Given the description of an element on the screen output the (x, y) to click on. 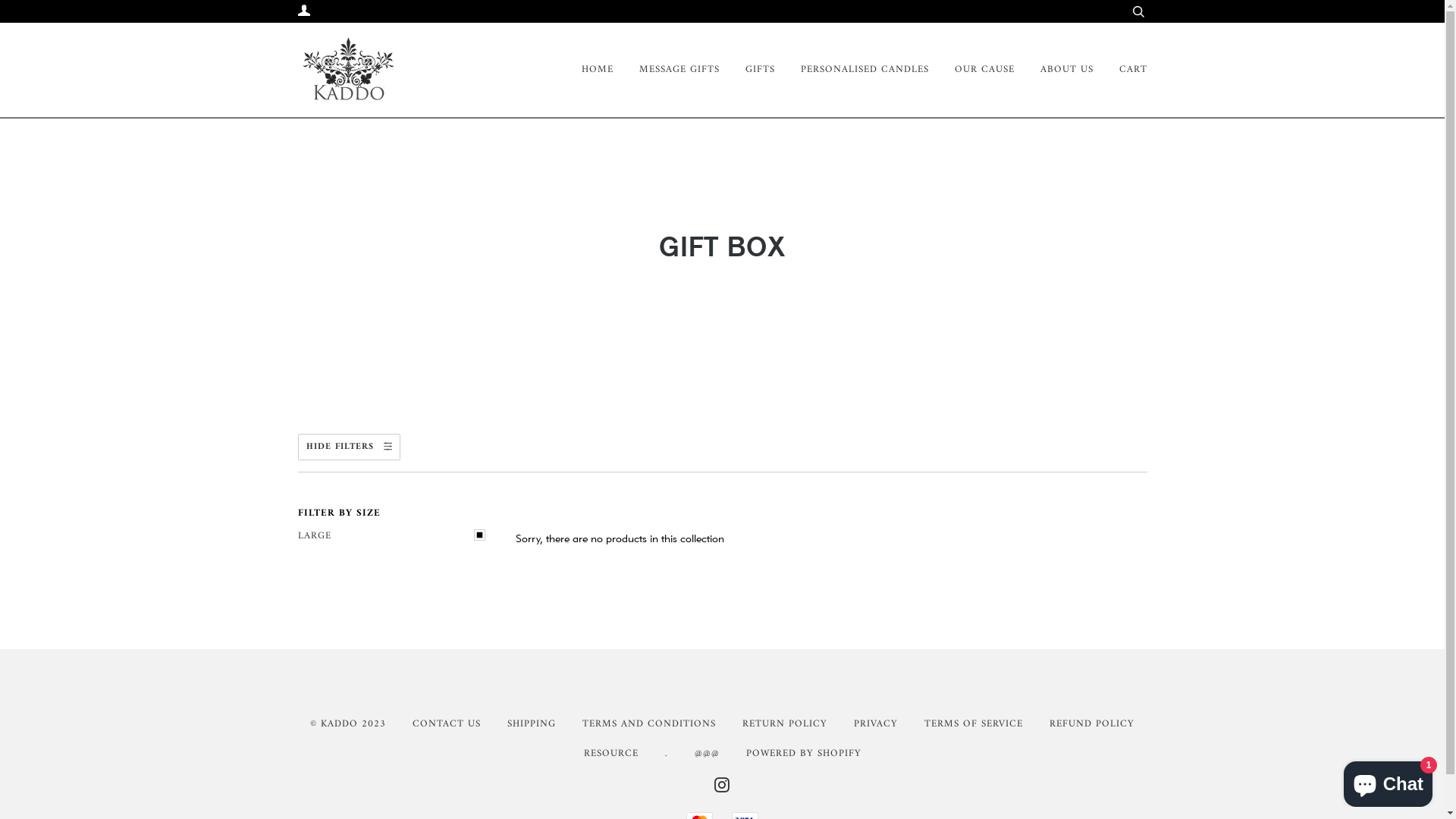
HOME Element type: text (592, 70)
TERMS AND CONDITIONS Element type: text (648, 724)
RETURN POLICY Element type: text (784, 724)
REFUND POLICY Element type: text (1091, 724)
ABOUT US Element type: text (1055, 70)
POWERED BY SHOPIFY Element type: text (803, 753)
PERSONALISED CANDLES Element type: text (853, 70)
MESSAGE GIFTS Element type: text (666, 70)
SHIPPING Element type: text (531, 724)
CONTACT US Element type: text (446, 724)
. Element type: text (665, 753)
GIFTS Element type: text (747, 70)
INSTAGRAM Element type: text (722, 788)
Shopify online store chat Element type: hover (1388, 780)
LARGE Element type: text (394, 536)
RESOURCE Element type: text (610, 753)
@@@ Element type: text (706, 753)
HIDE FILTERS Element type: text (348, 446)
OUR CAUSE Element type: text (972, 70)
Search Element type: hover (1137, 11)
PRIVACY Element type: text (875, 724)
CART Element type: text (1121, 70)
TERMS OF SERVICE Element type: text (973, 724)
